Given the description of an element on the screen output the (x, y) to click on. 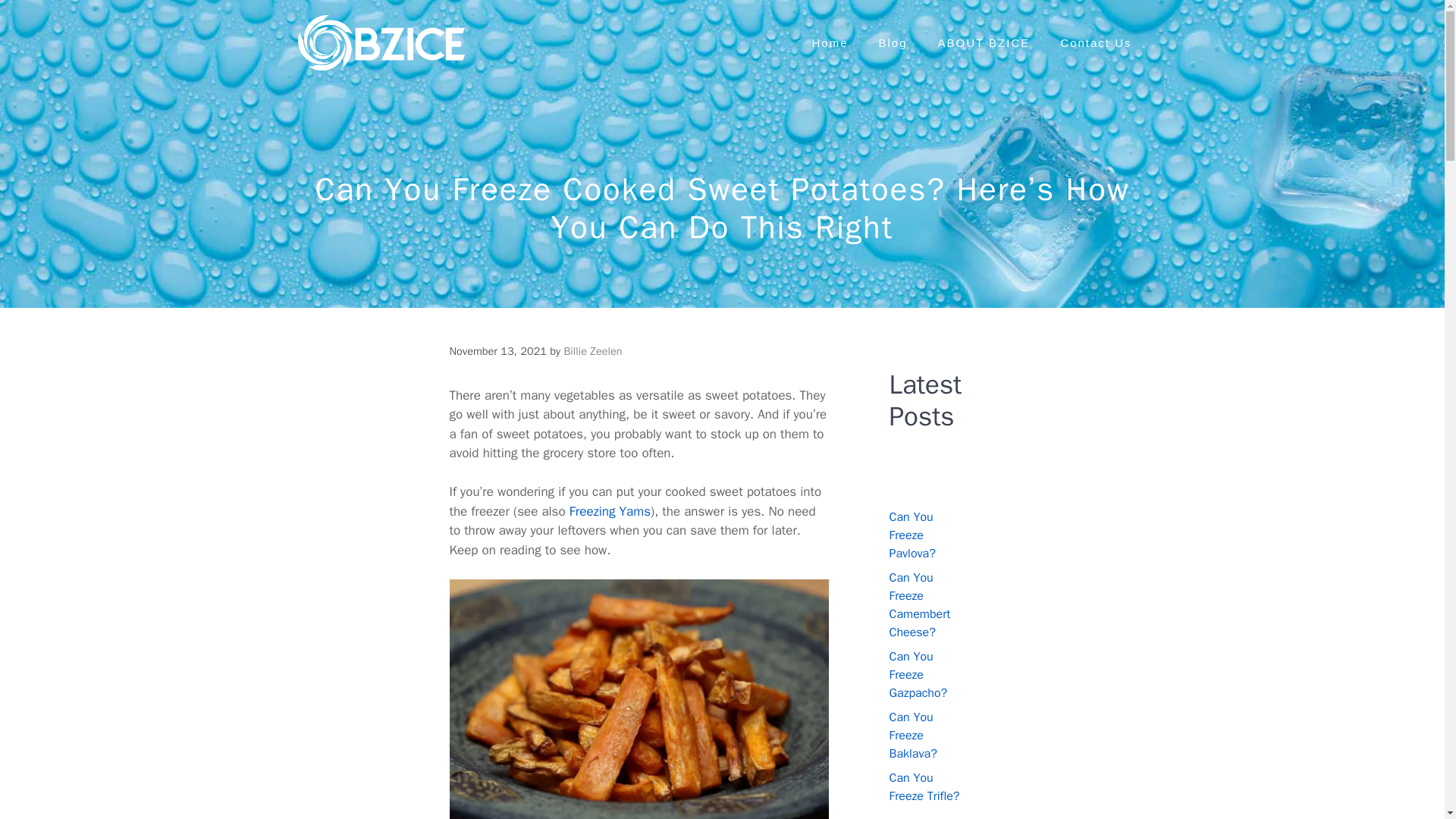
Can You Freeze Pavlova? (911, 535)
View all posts by Billie Zeelen (592, 350)
Billie Zeelen (592, 350)
BZIce Freezing Dictionary (380, 42)
Contact Us (1096, 43)
Blog (893, 43)
BZIce Freezing Dictionary (380, 41)
Home (829, 43)
Can You Freeze Baklava? (912, 735)
Can You Freeze Gazpacho? (917, 675)
Can You Freeze Trifle? (923, 786)
ABOUT BZICE (984, 43)
Freezing Yams (609, 511)
